Given the description of an element on the screen output the (x, y) to click on. 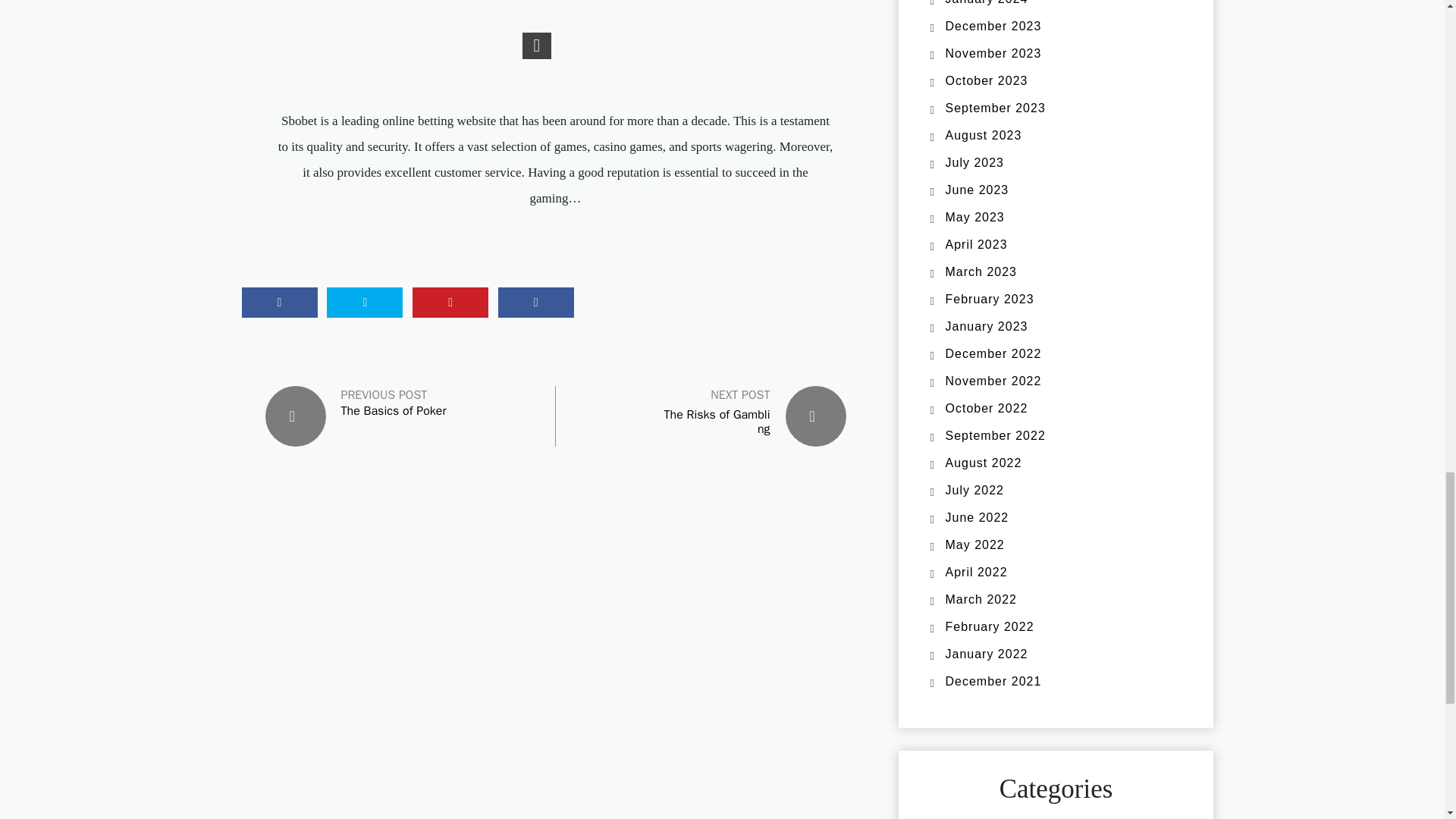
January 2024 (985, 2)
The Risks of Gambling (716, 421)
NEXT POST (740, 394)
December 2023 (992, 25)
PREVIOUS POST (384, 394)
The Basics of Poker (393, 411)
